Given the description of an element on the screen output the (x, y) to click on. 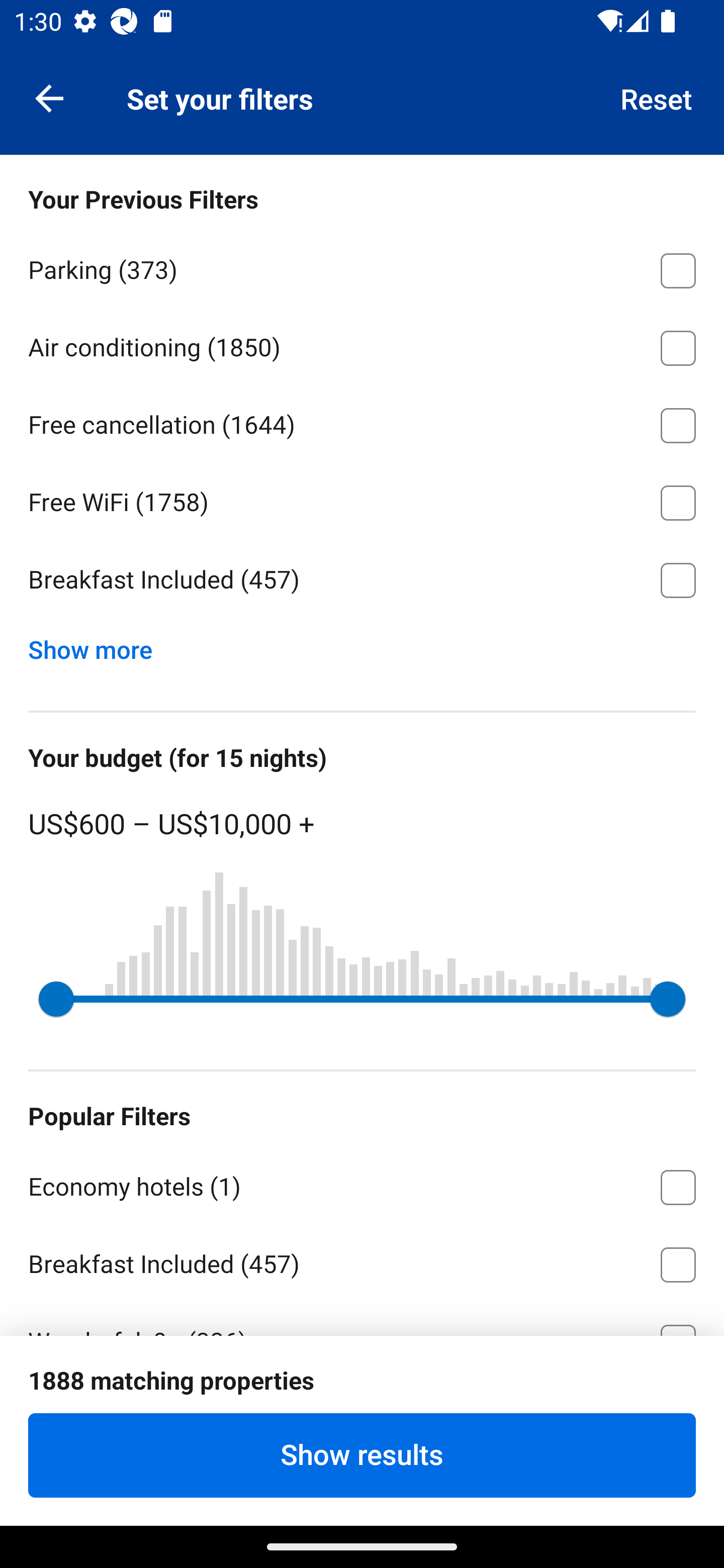
Navigate up (49, 97)
Reset (656, 97)
Parking ⁦(373) (361, 266)
Air conditioning ⁦(1850) (361, 344)
Free cancellation ⁦(1644) (361, 422)
Free WiFi ⁦(1758) (361, 498)
Breakfast Included ⁦(457) (361, 579)
Show more (97, 645)
Economy hotels ⁦(1) (361, 1183)
Breakfast Included ⁦(457) (361, 1261)
Show results (361, 1454)
